Given the description of an element on the screen output the (x, y) to click on. 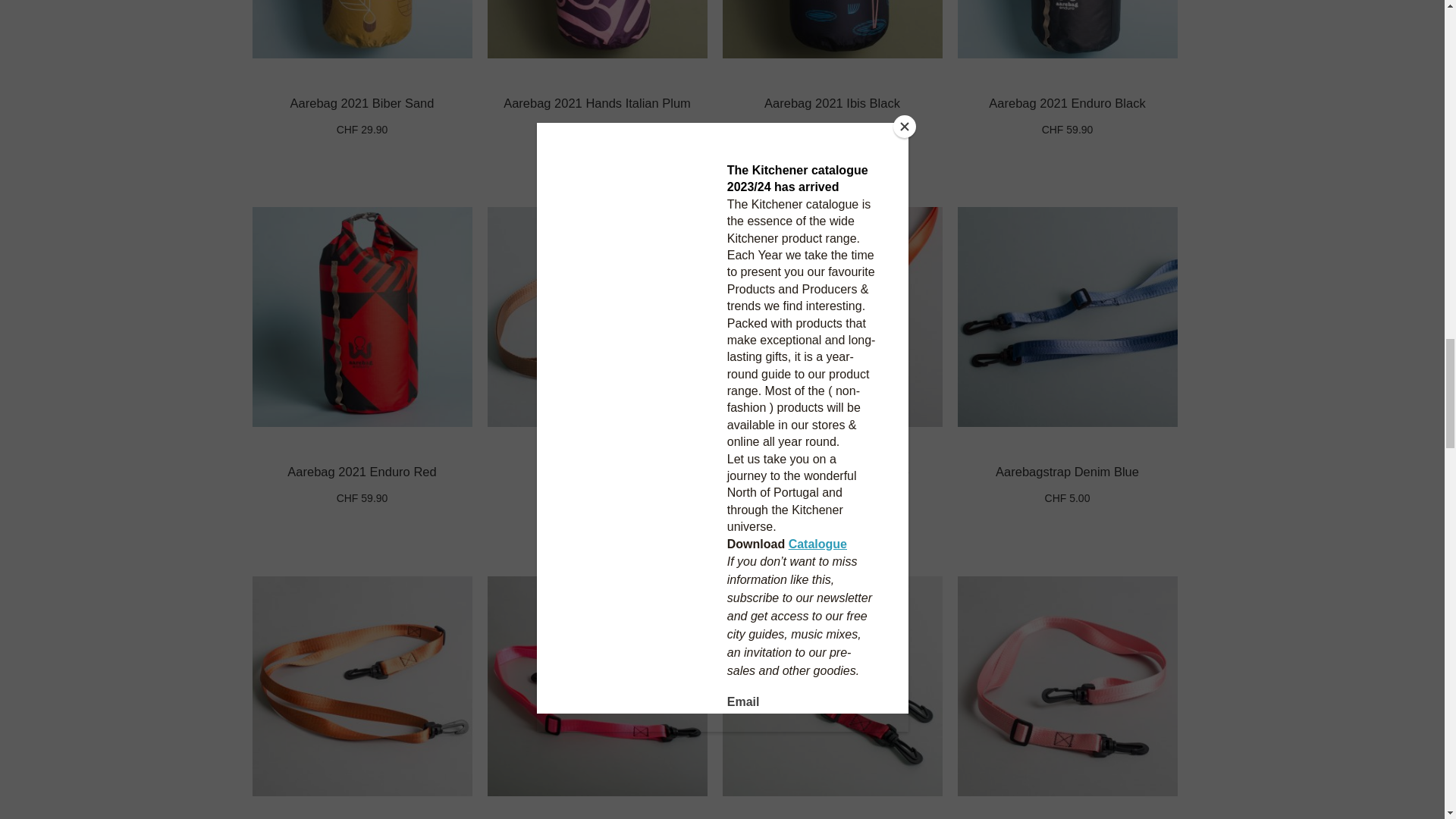
Aarebag 2021 Enduro Red (360, 471)
Aarebag 2021 Biber Sand (361, 102)
Aarebag 2021 Enduro Black (1066, 102)
Aarebag 2021 Hands Italian Plum (596, 102)
Aarebag 2021 Ibis Black (831, 102)
